Given the description of an element on the screen output the (x, y) to click on. 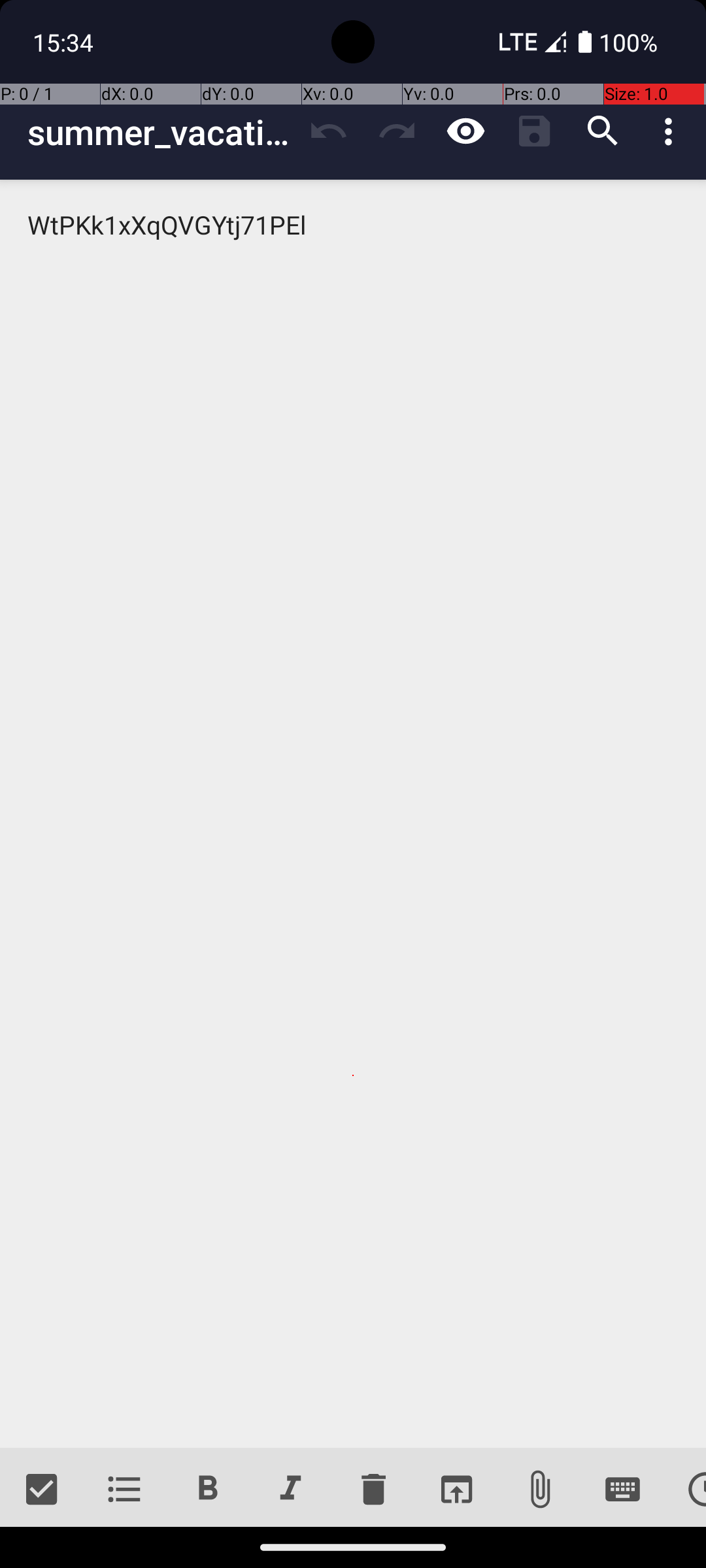
summer_vacation_plans_ZDk8 Element type: android.widget.TextView (160, 131)
WtPKk1xXqQVGYtj71PEl
 Element type: android.widget.EditText (353, 813)
